Given the description of an element on the screen output the (x, y) to click on. 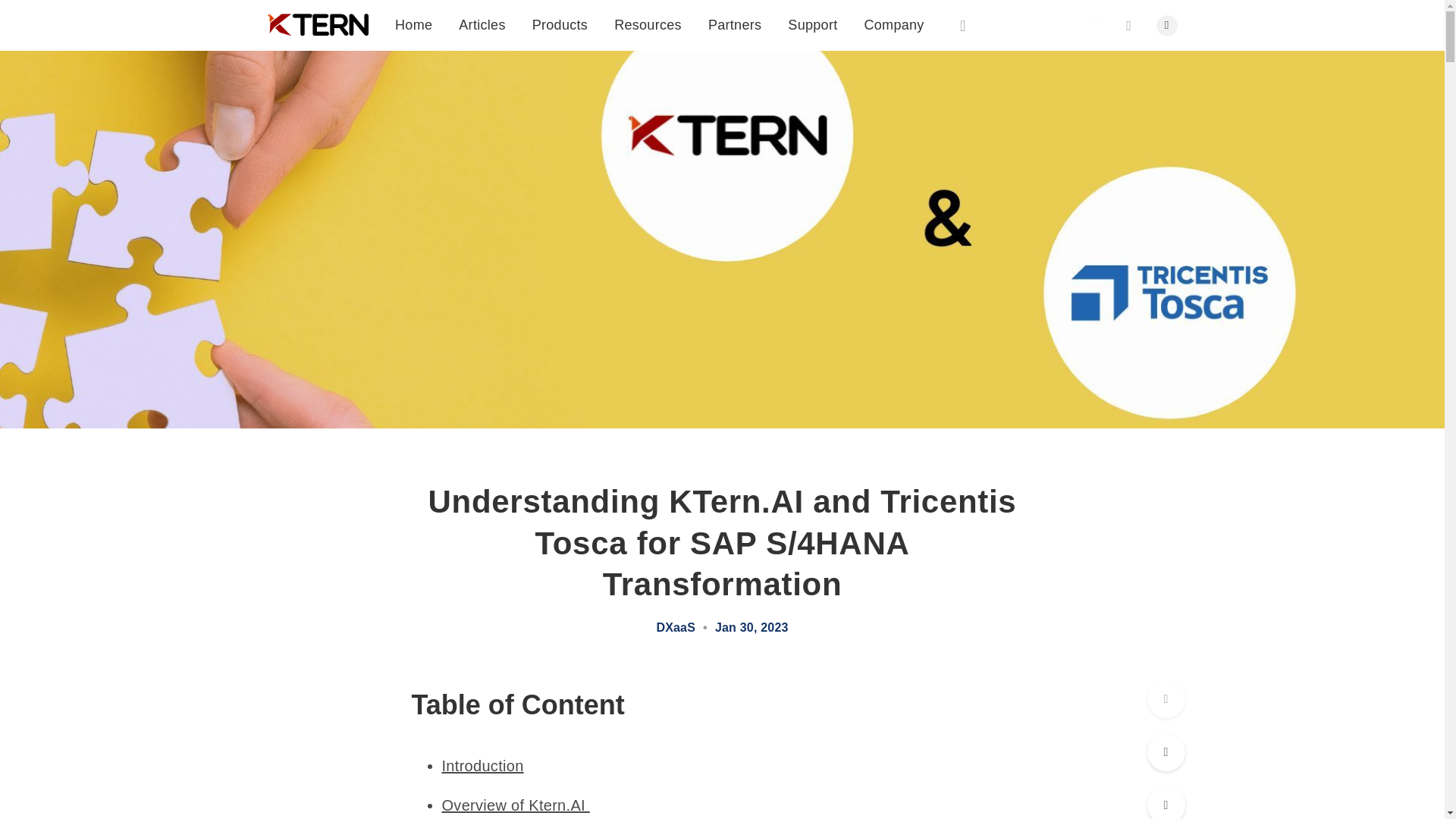
Partners (734, 24)
Overview of Ktern.AI (515, 805)
Home (413, 17)
Articles (481, 20)
Company (893, 24)
DXaaS (675, 627)
Resources (647, 23)
Products (560, 23)
Support (812, 24)
Introduction (481, 765)
